Given the description of an element on the screen output the (x, y) to click on. 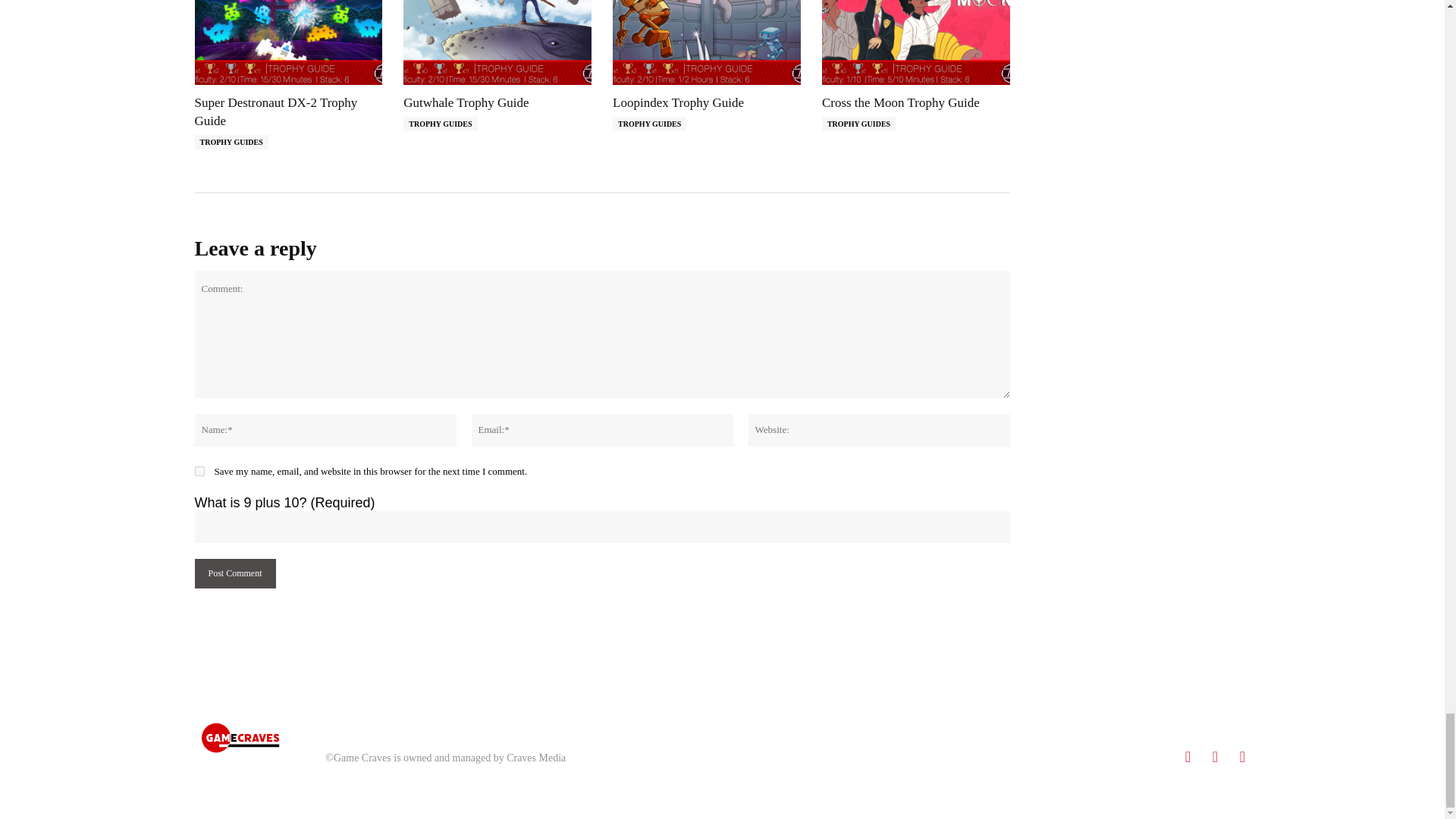
Post Comment (234, 573)
yes (198, 470)
